Given the description of an element on the screen output the (x, y) to click on. 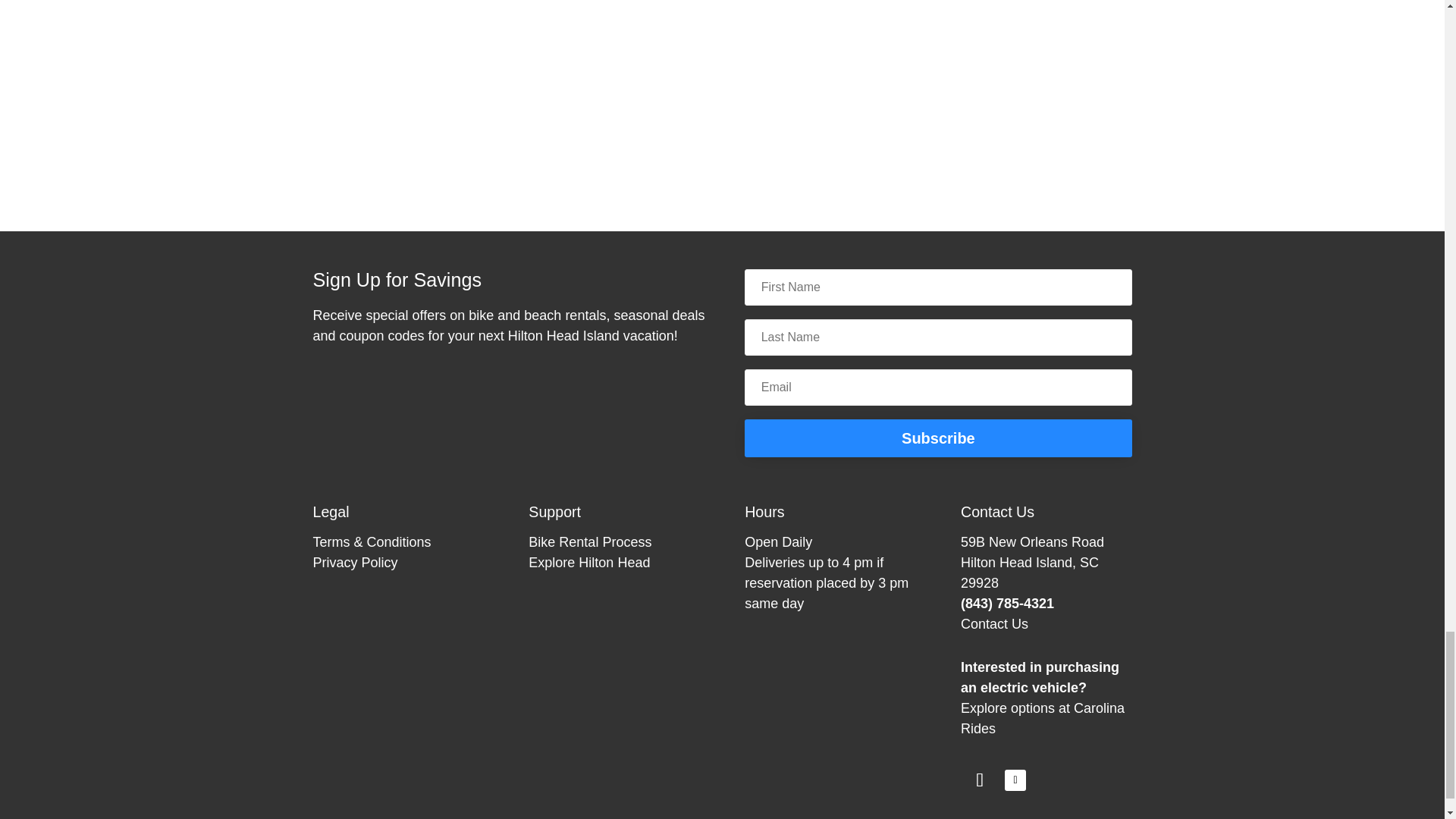
Follow on Facebook (1015, 780)
Privacy Policy (355, 562)
Follow on Instagram (979, 780)
Subscribe (937, 438)
